Given the description of an element on the screen output the (x, y) to click on. 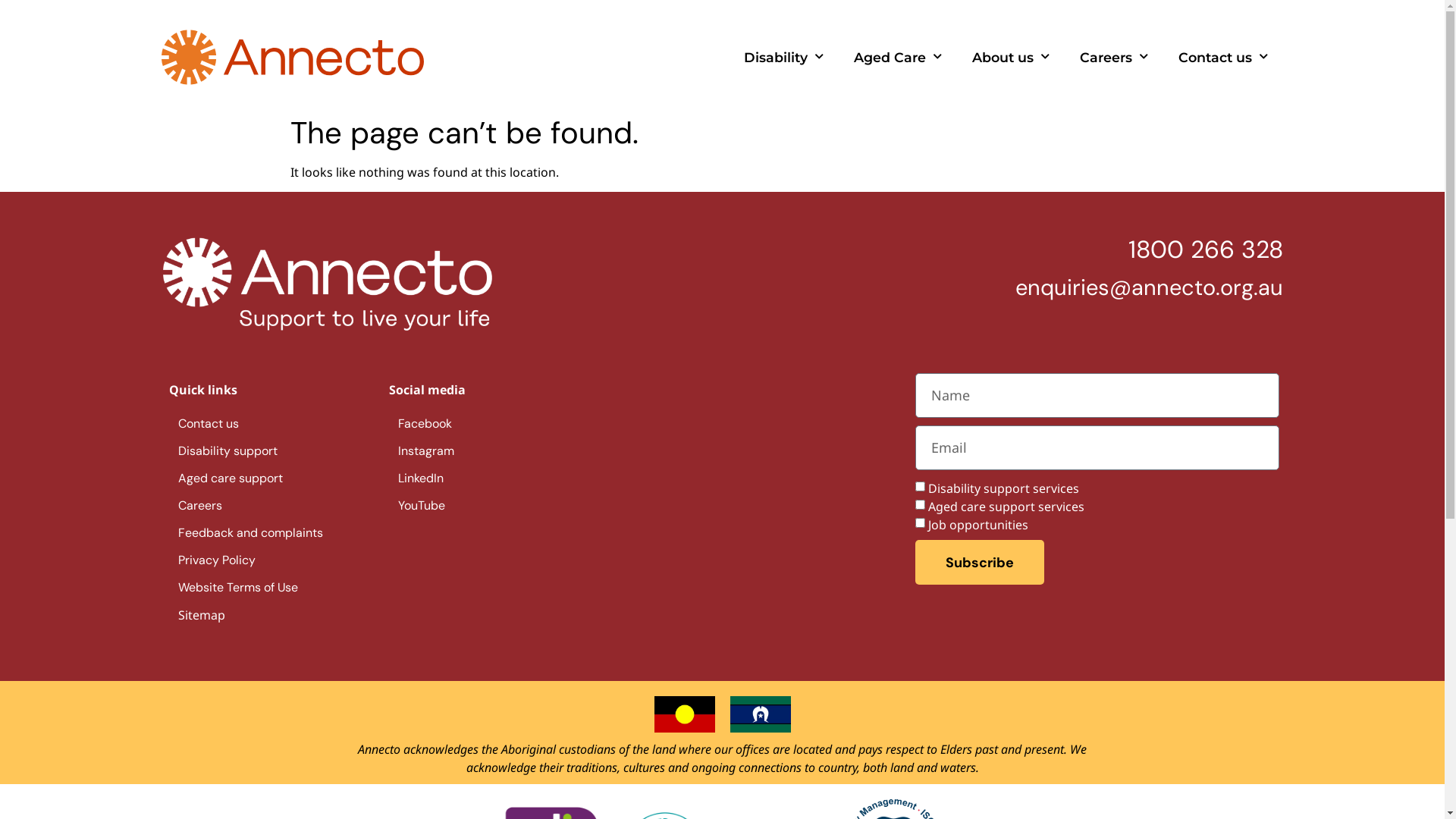
Feedback and complaints Element type: text (249, 532)
Careers Element type: text (199, 505)
Instagram Element type: text (425, 450)
enquiries@annecto.org.au Element type: text (1149, 287)
Disability Element type: text (783, 56)
Contact us Element type: text (1223, 56)
Careers Element type: text (1113, 56)
Website Terms of Use Element type: text (237, 587)
Aged care support Element type: text (229, 478)
LinkedIn Element type: text (419, 478)
Disability support Element type: text (226, 450)
1800 266 328 Element type: text (1205, 249)
Privacy Policy Element type: text (215, 560)
Torres-Strait-flag Element type: hover (759, 714)
Contact us Element type: text (207, 423)
About us Element type: text (1010, 56)
Aboriginal-flag Element type: hover (683, 714)
Aged Care Element type: text (897, 56)
Subscribe Element type: text (979, 561)
Sitemap Element type: text (200, 615)
Facebook Element type: text (424, 423)
YouTube Element type: text (420, 505)
